Given the description of an element on the screen output the (x, y) to click on. 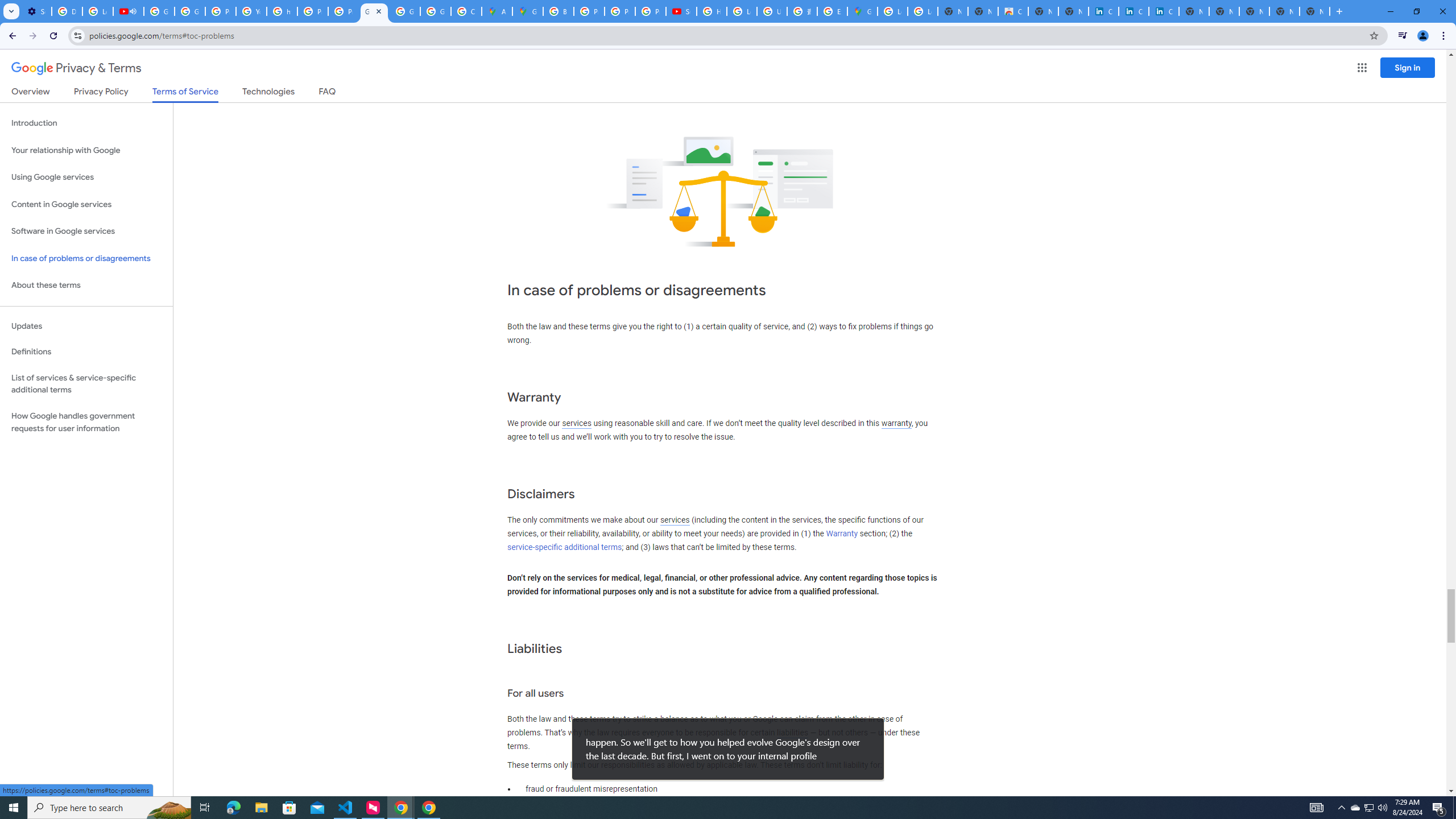
Privacy Help Center - Policies Help (589, 11)
In case of problems or disagreements (86, 258)
Mute tab (133, 10)
Blogger Policies and Guidelines - Transparency Center (558, 11)
Software in Google services (86, 230)
Google Maps (527, 11)
List of services & service-specific additional terms (86, 383)
